Given the description of an element on the screen output the (x, y) to click on. 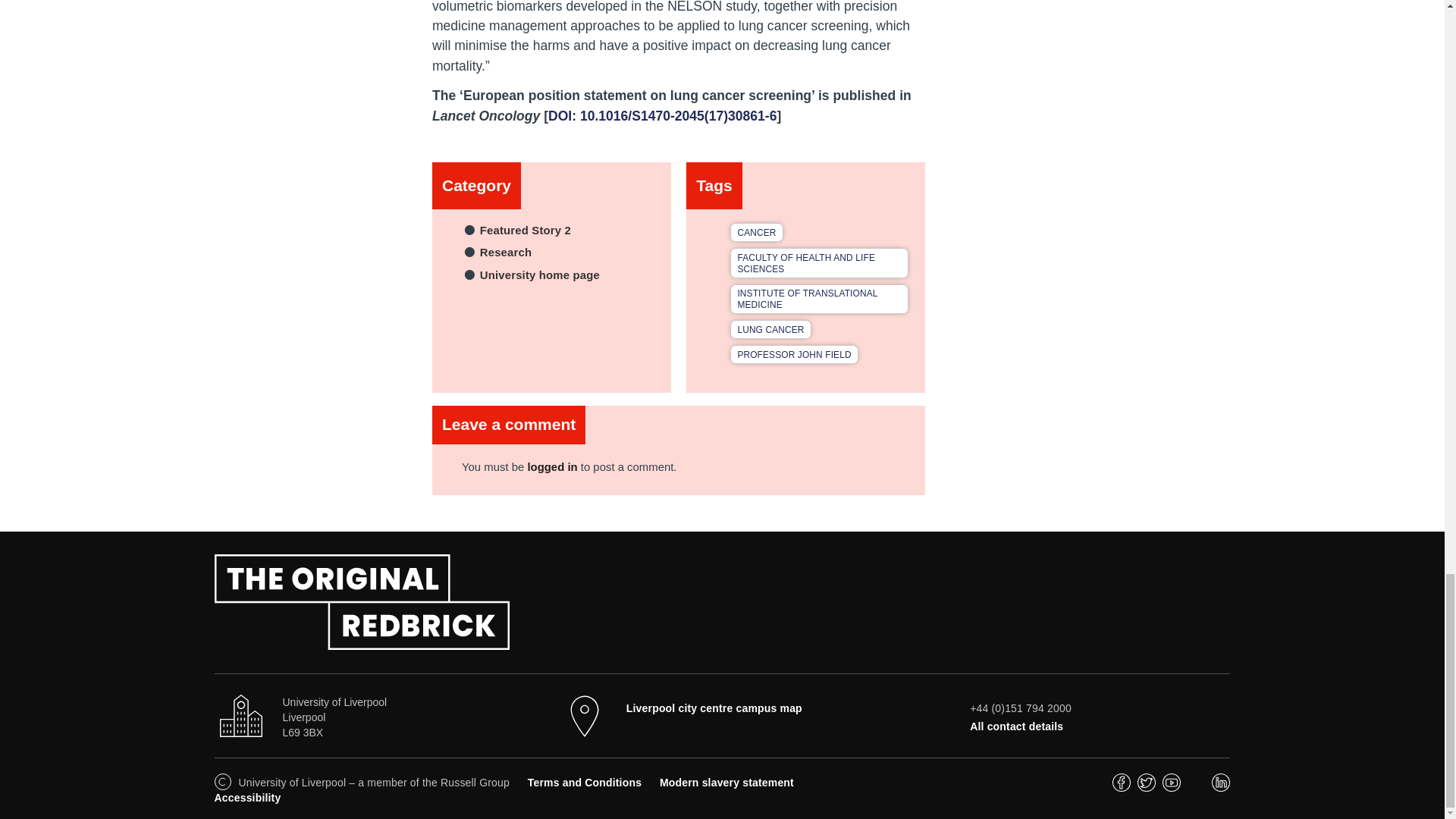
Terms and Conditions (584, 782)
youtube (1170, 787)
twitter (1146, 787)
instagram (1196, 787)
facebook (1121, 787)
Maps (714, 707)
Modern slavery statement (726, 782)
Contact us (1015, 726)
